Given the description of an element on the screen output the (x, y) to click on. 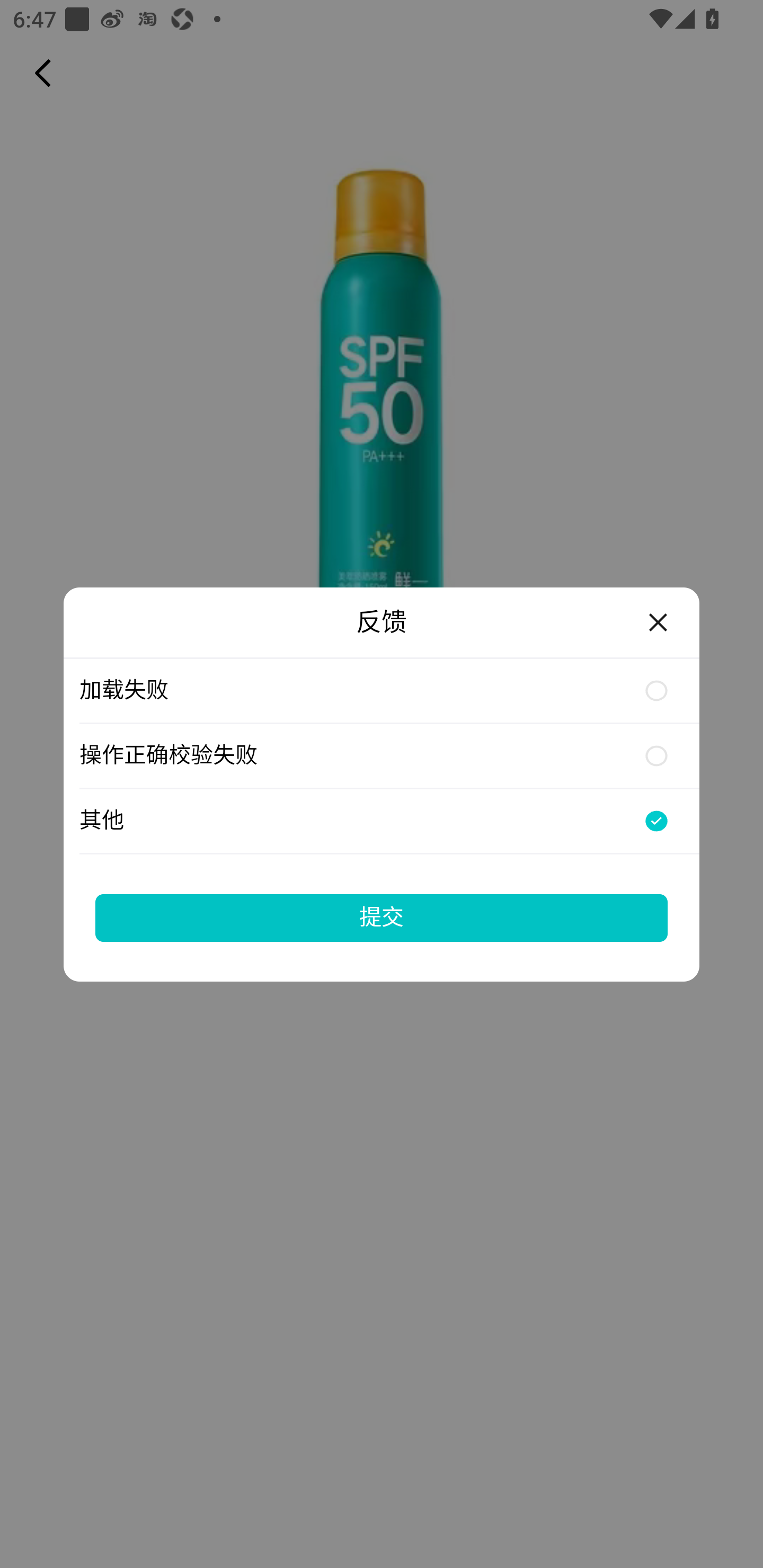
提交 (381, 917)
